Given the description of an element on the screen output the (x, y) to click on. 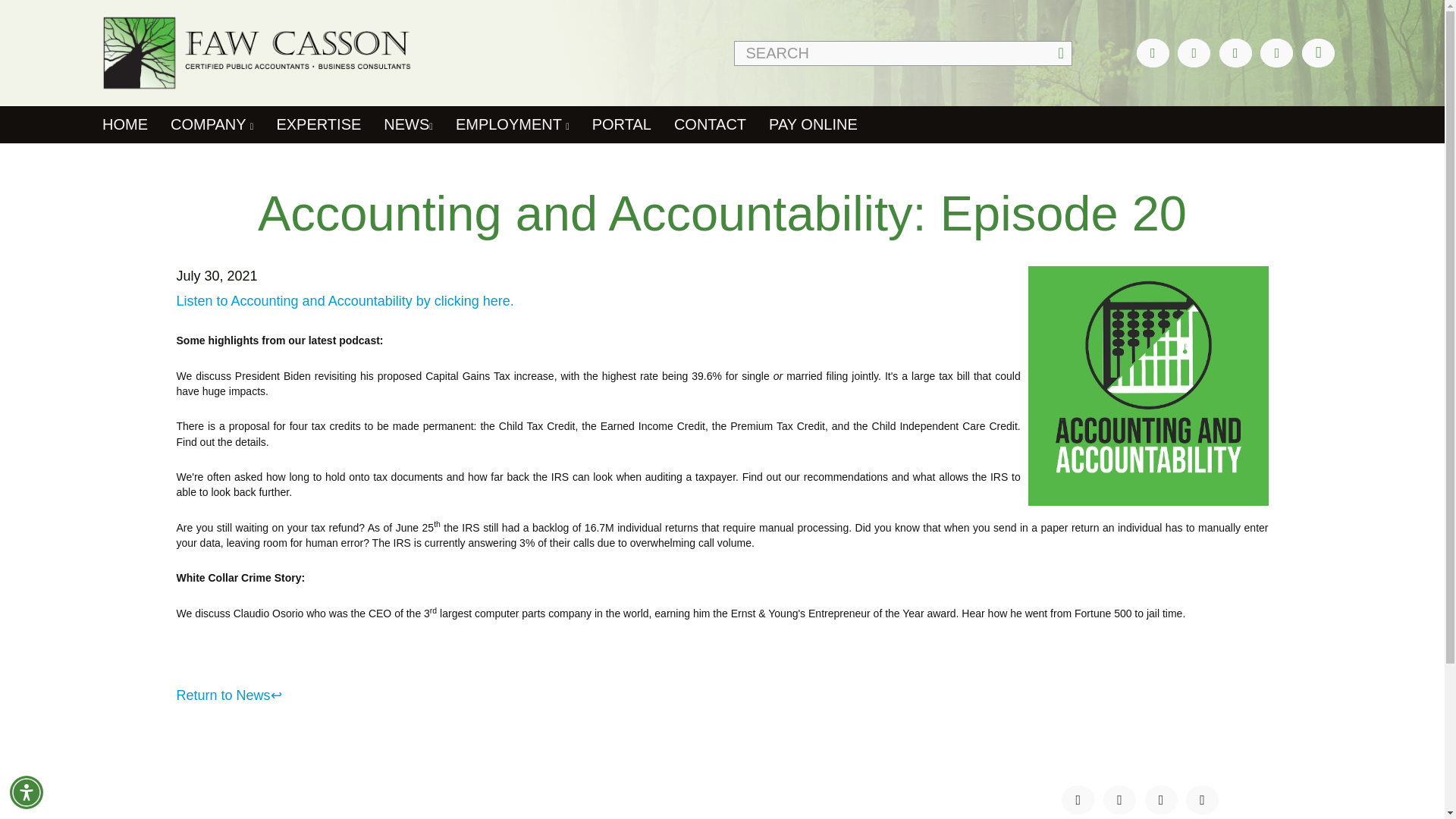
EMPLOYMENT (512, 124)
HOME (196, 798)
CONTACT (709, 124)
WE BELONG TO AGN (523, 798)
Accessibility Menu (26, 792)
PAY ONLINE (813, 124)
Listen to Accounting and Accountability by clicking here.  (346, 300)
Faw Casson (211, 52)
COMPANY (210, 814)
EXPERTISE (492, 814)
COMPANY (212, 124)
PORTAL (621, 124)
NEWS (408, 124)
EXPERTISE (318, 124)
